Given the description of an element on the screen output the (x, y) to click on. 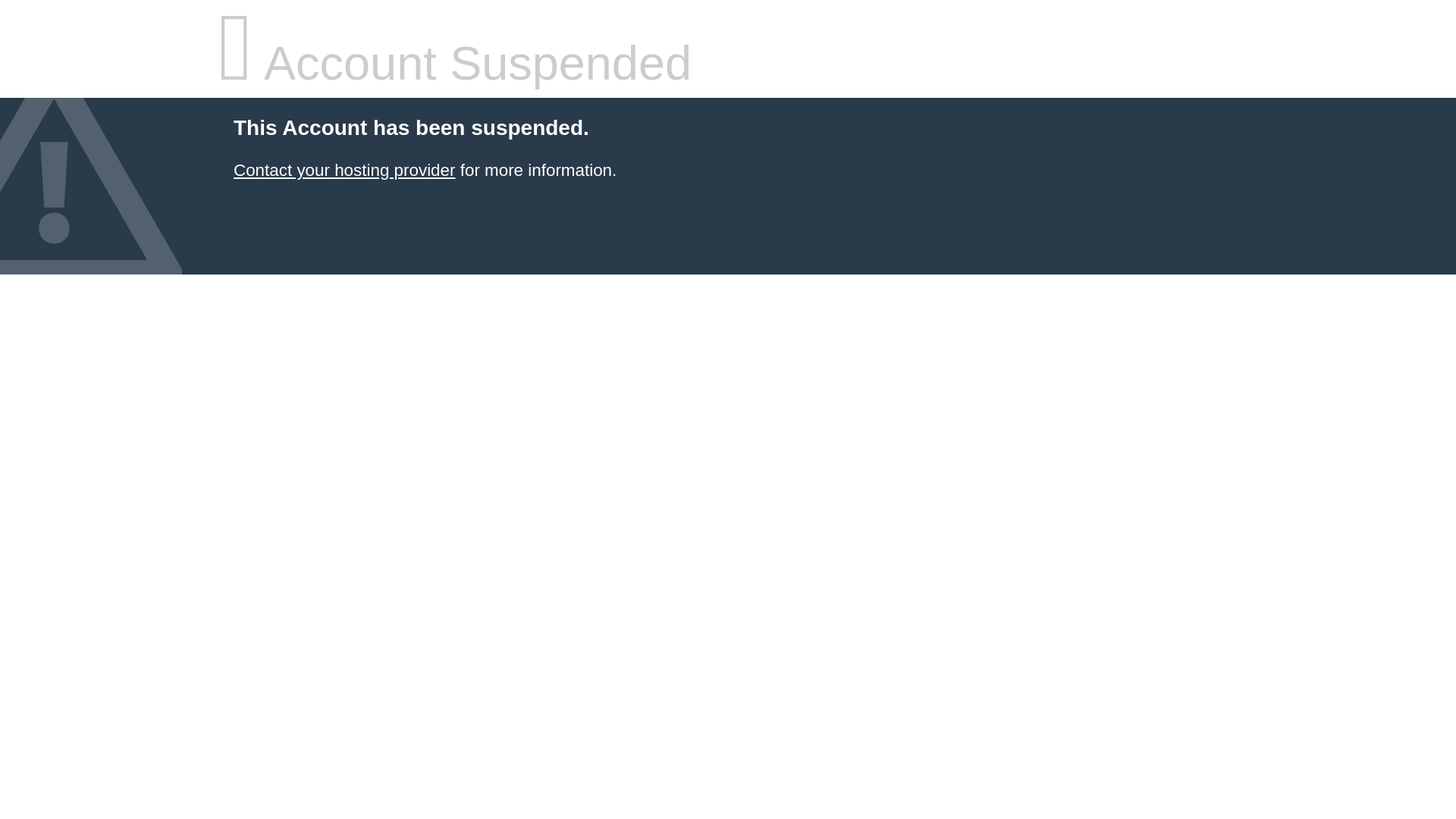
Contact your hosting provider (343, 169)
